Given the description of an element on the screen output the (x, y) to click on. 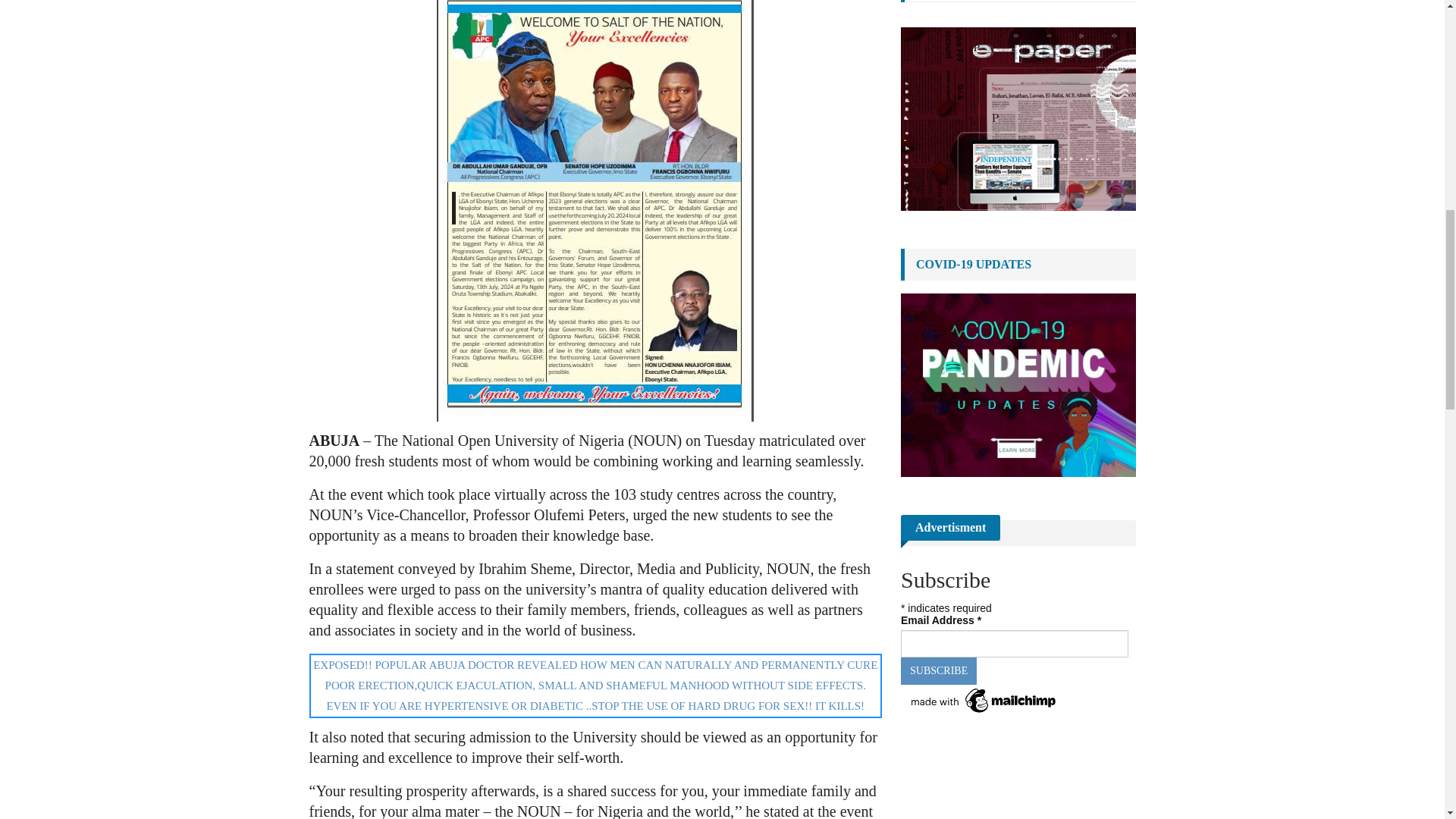
Subscribe (938, 670)
